Given the description of an element on the screen output the (x, y) to click on. 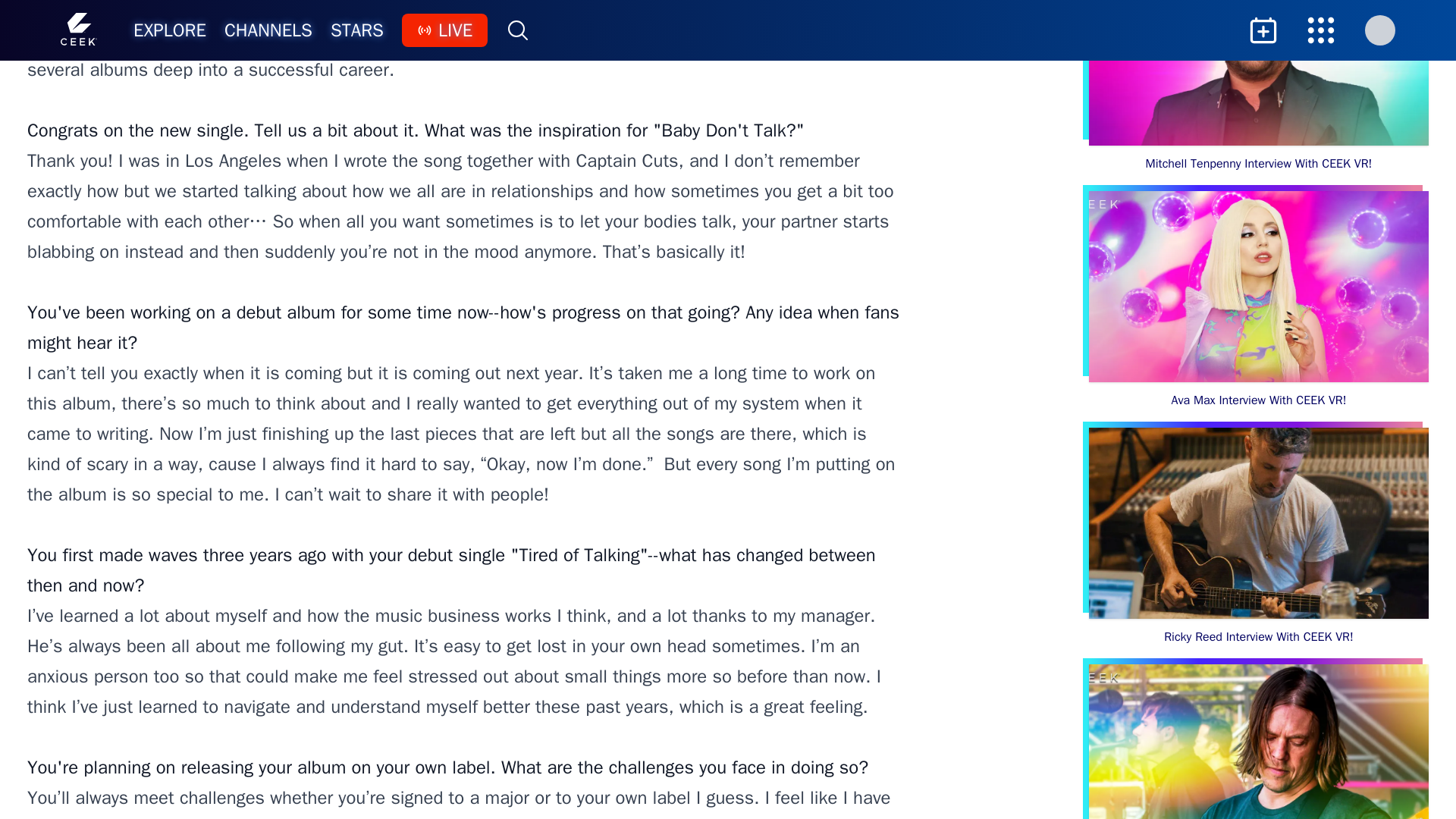
Mitchell Tenpenny Interview With CEEK VR! (1258, 86)
Jimmy Eat World Interview With CEEK VR! (1258, 741)
Ava Max Interview With CEEK VR! (1258, 299)
Ricky Reed Interview With CEEK VR! (1258, 536)
